Given the description of an element on the screen output the (x, y) to click on. 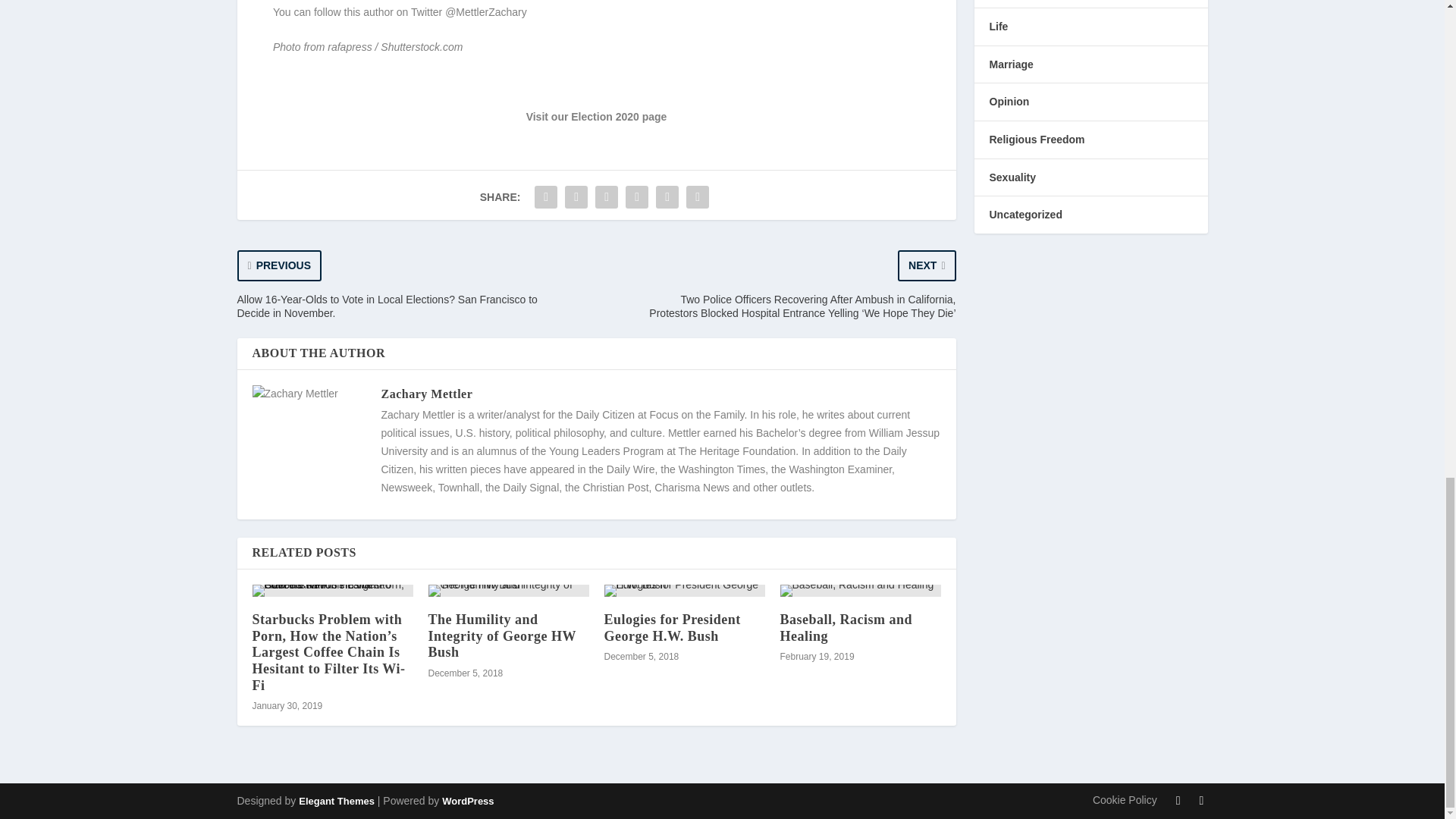
Baseball, Racism and Healing (859, 590)
View all posts by Zachary Mettler (425, 393)
Election 2020 (604, 116)
Eulogies for President George H.W. Bush (684, 590)
Premium WordPress Themes (336, 800)
